Given the description of an element on the screen output the (x, y) to click on. 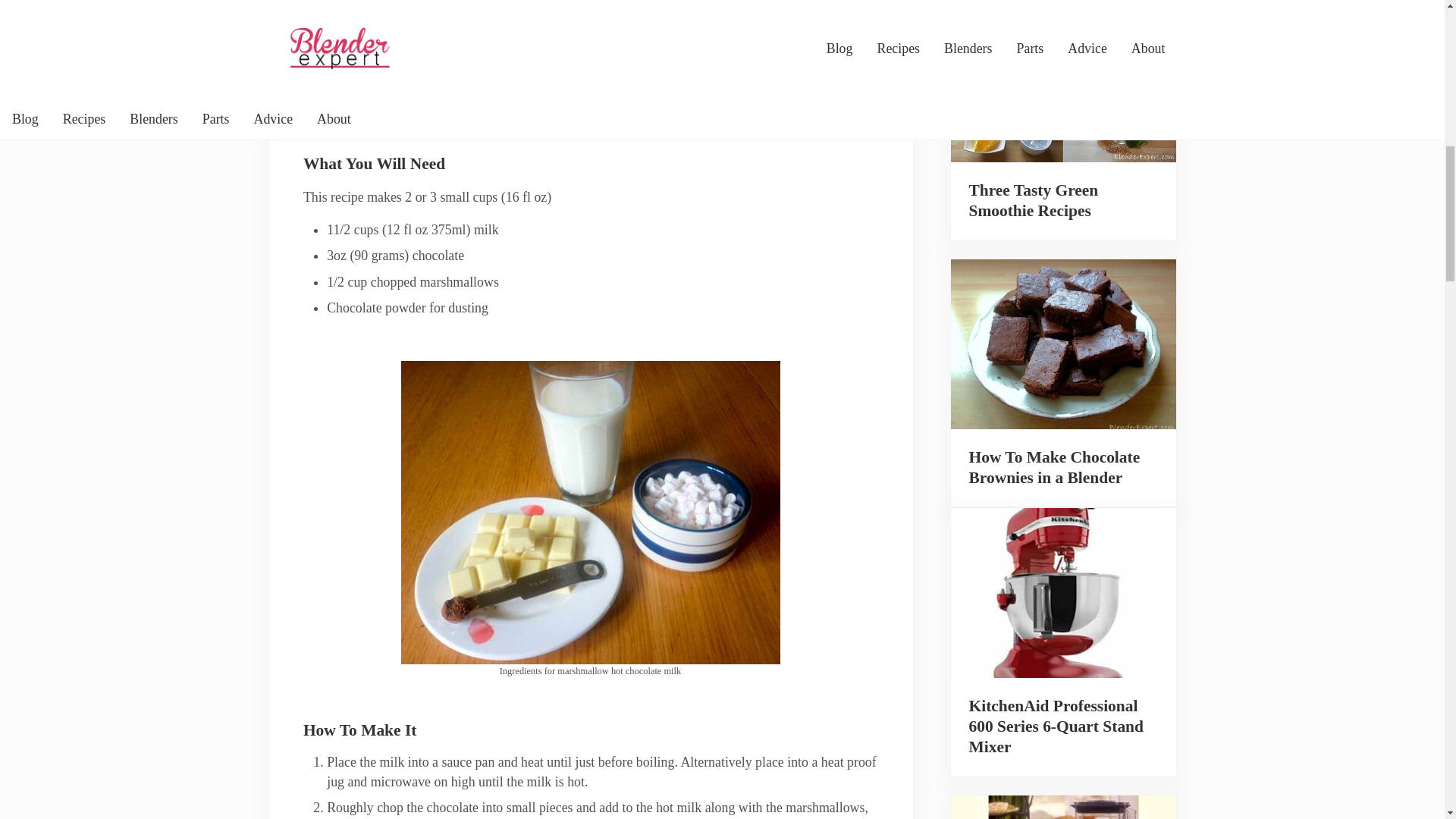
Ingredients for marshmallow hot chocolate milk (589, 512)
Marshmallow Hot Chocolate Milk (589, 48)
